Given the description of an element on the screen output the (x, y) to click on. 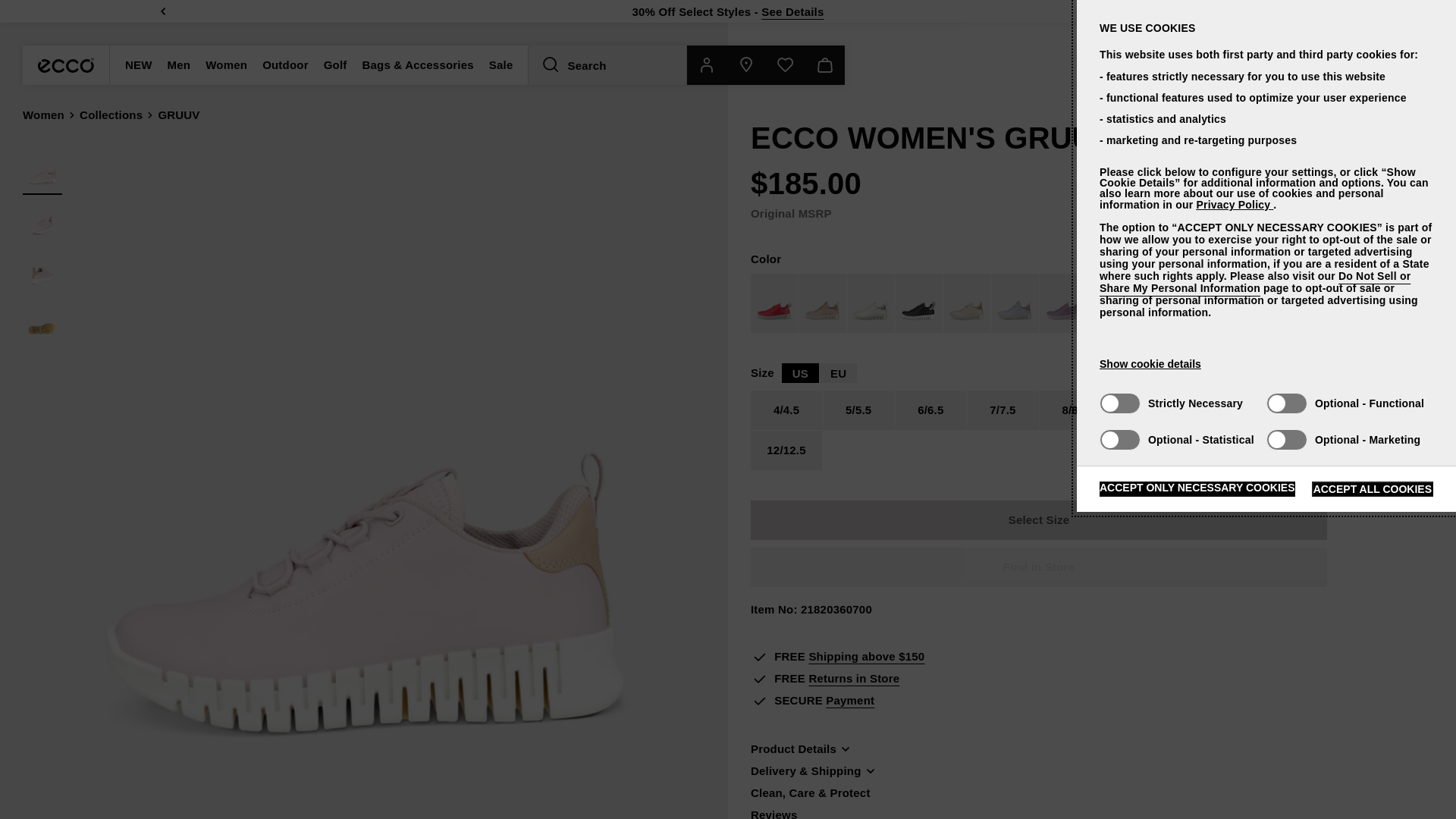
Show cookie details (1150, 363)
Do Not Sell or Share My Personal Information (1254, 282)
Privacy Policy (1233, 204)
